Given the description of an element on the screen output the (x, y) to click on. 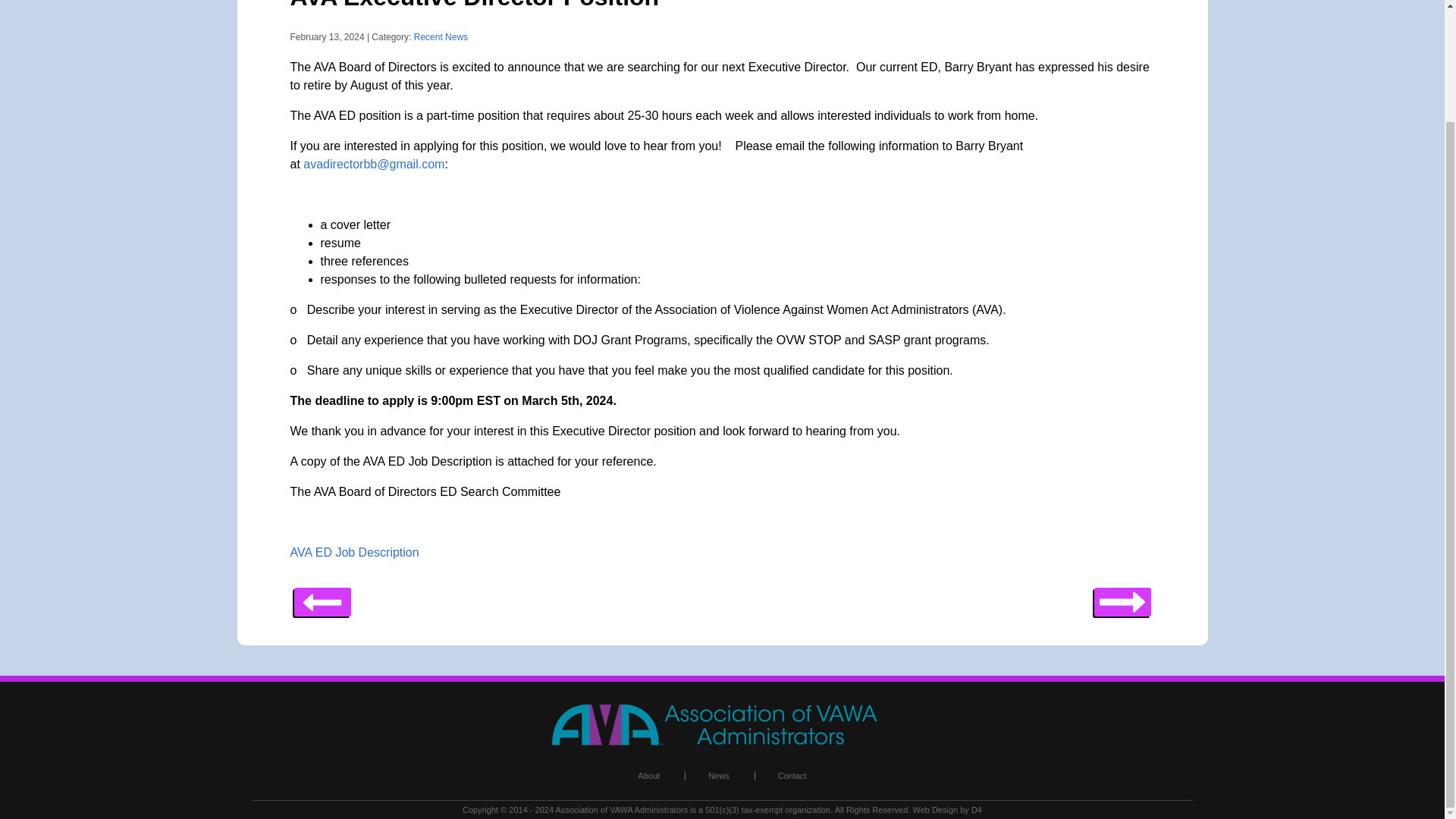
Association of VAWA Administrators (620, 809)
PREVIOUS (1121, 597)
AVA ED Job Description (354, 552)
Recent News (440, 36)
NEXT (322, 597)
Association of VAWA Administrators (722, 741)
